Given the description of an element on the screen output the (x, y) to click on. 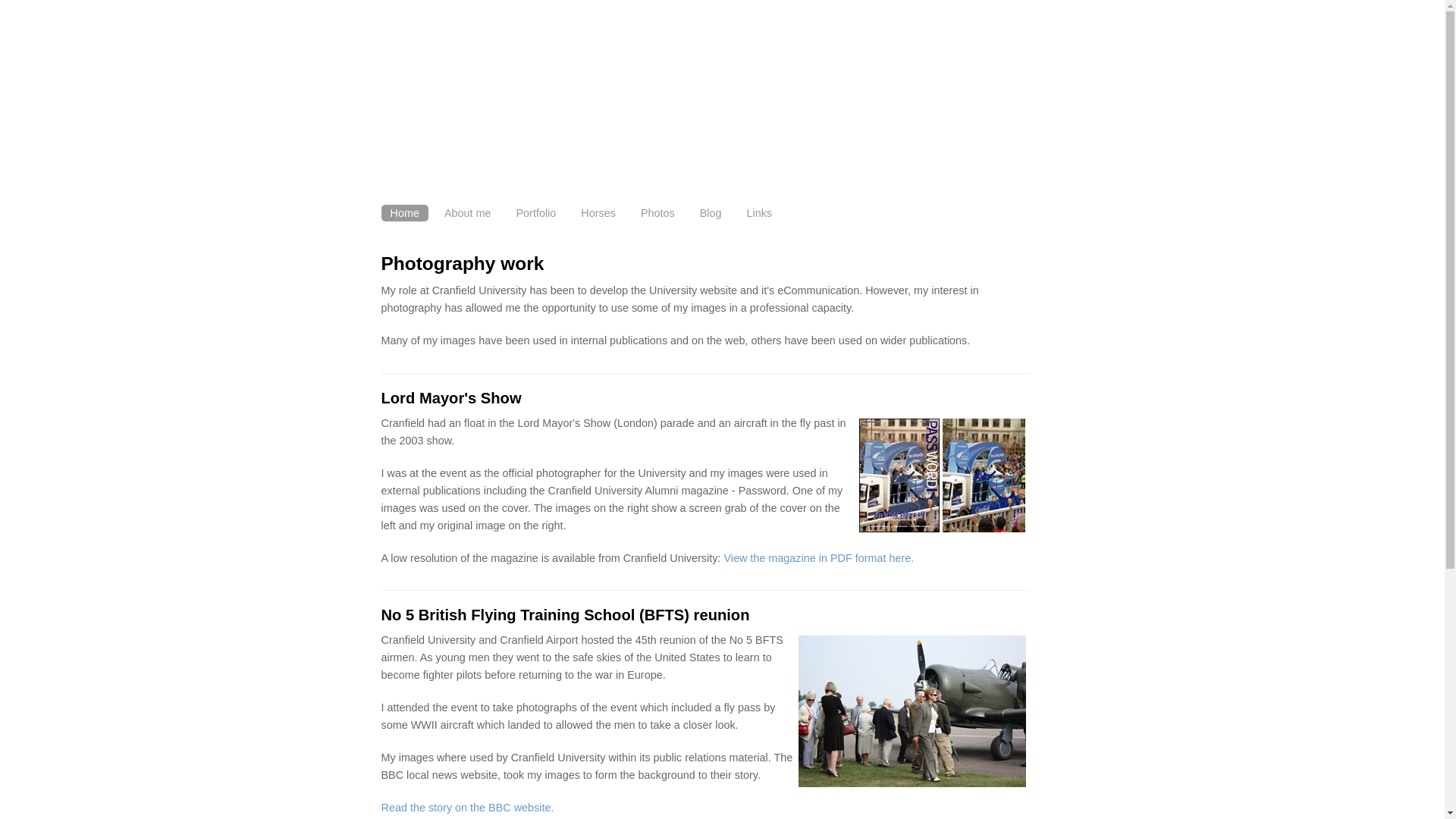
About me (467, 212)
Home (404, 212)
Horses (598, 212)
Read the story on the BBC website. (466, 807)
Home (404, 212)
Portfolio (535, 212)
About me (467, 212)
Horses (598, 212)
Portfolio (535, 212)
